Given the description of an element on the screen output the (x, y) to click on. 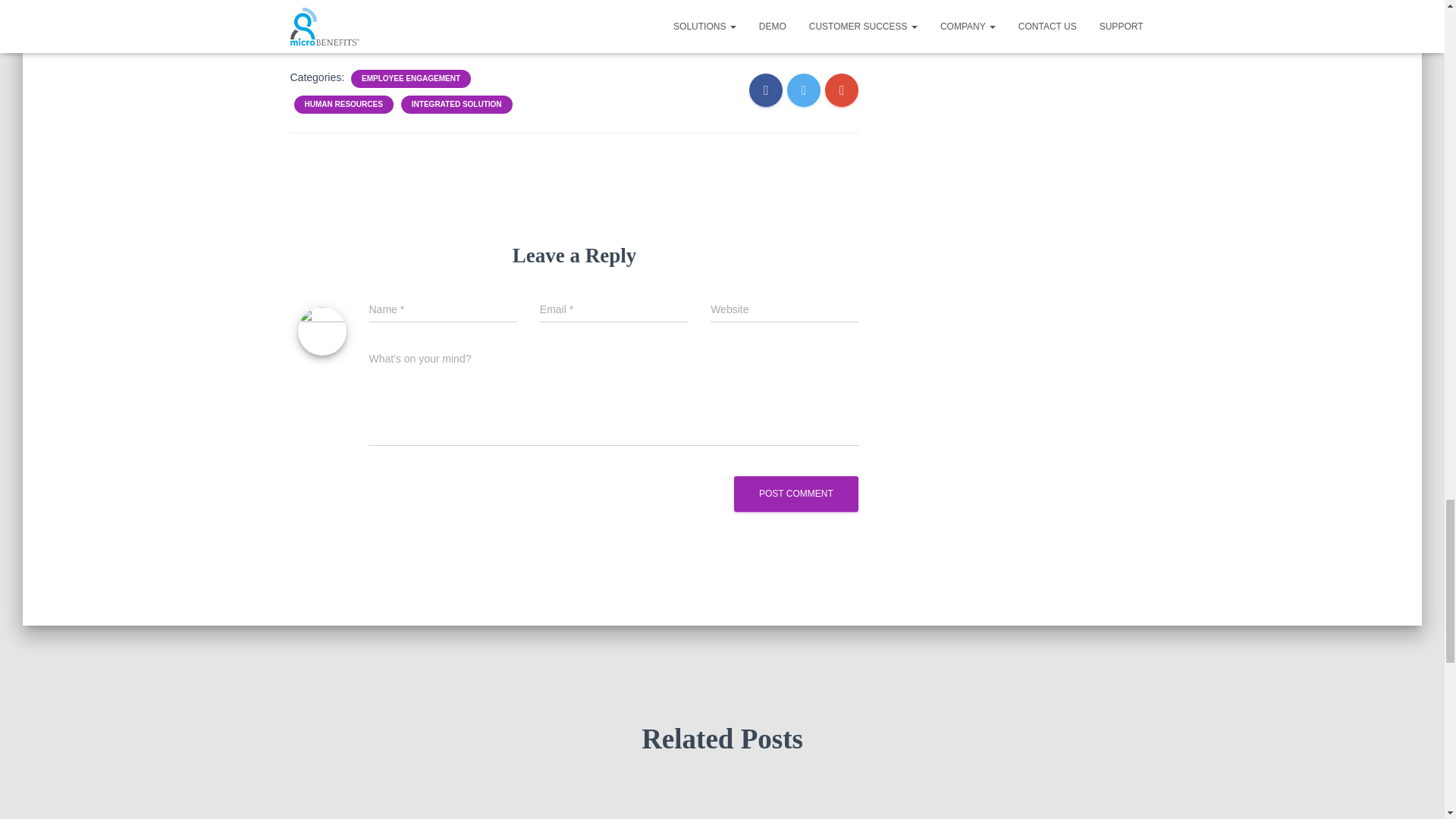
INTEGRATED SOLUTION (456, 104)
Post Comment (796, 493)
Post Comment (796, 493)
EMPLOYEE ENGAGEMENT (410, 78)
HUMAN RESOURCES (343, 104)
